Given the description of an element on the screen output the (x, y) to click on. 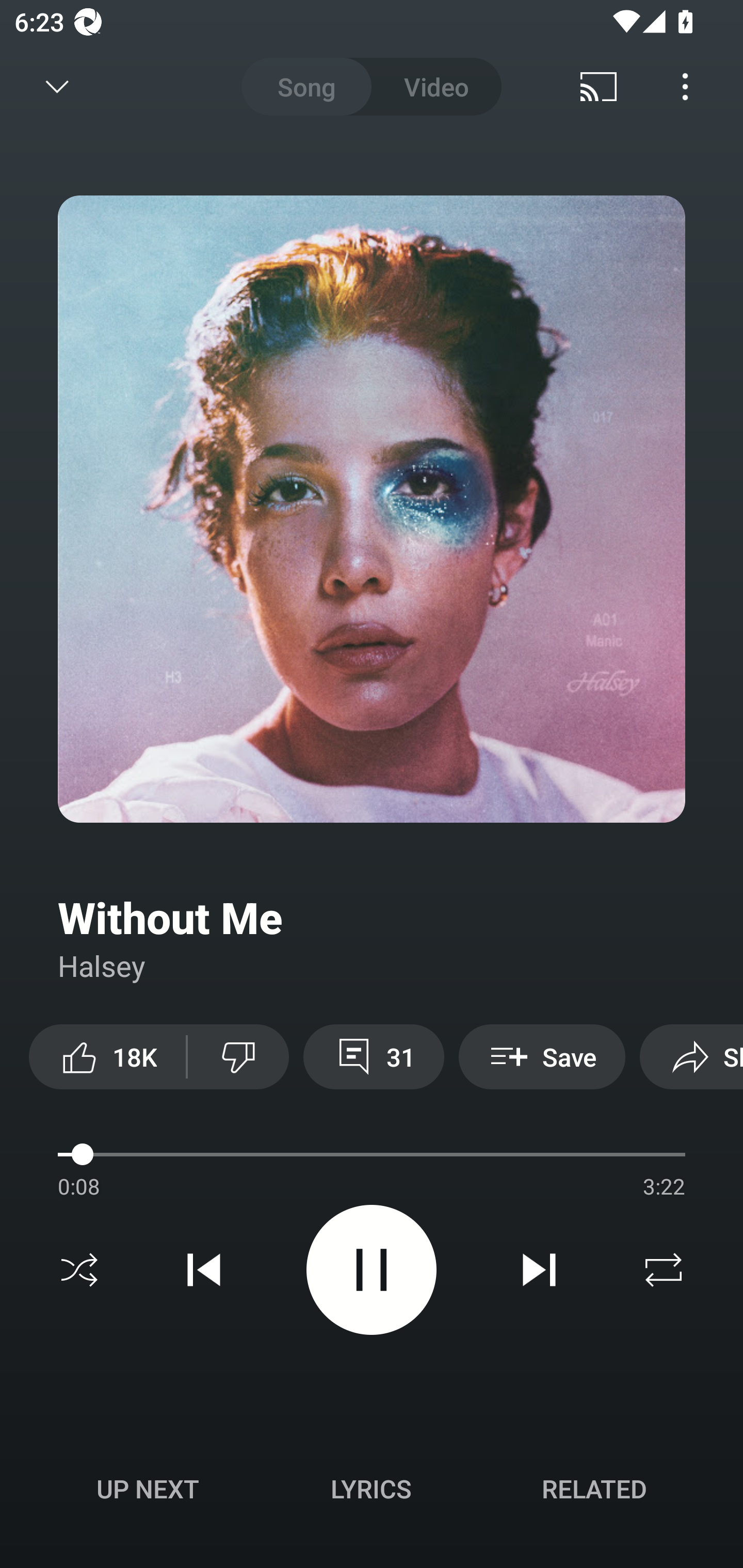
Minimize (57, 86)
Cast. Disconnected (598, 86)
Menu (684, 86)
18K like this video along with 18,871 other people (106, 1056)
Dislike (238, 1056)
31 View 31 comments (373, 1056)
Save Save to playlist (541, 1056)
Share (691, 1056)
Pause video (371, 1269)
Shuffle off (79, 1269)
Previous track (203, 1269)
Next track (538, 1269)
Repeat off (663, 1269)
Up next UP NEXT Lyrics LYRICS Related RELATED (371, 1491)
Lyrics LYRICS (370, 1488)
Related RELATED (594, 1488)
